Given the description of an element on the screen output the (x, y) to click on. 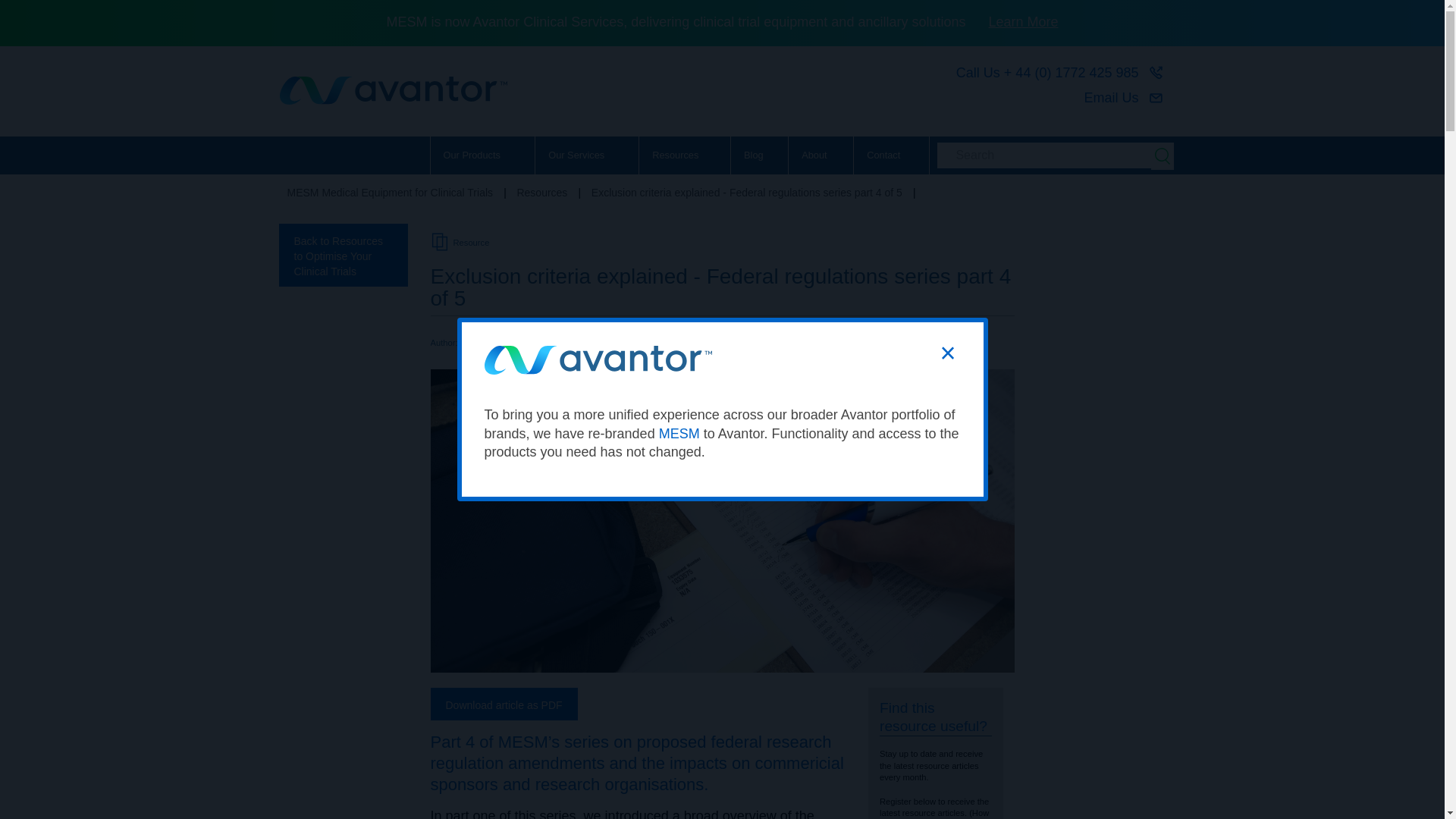
Our Products (482, 155)
Blog (758, 155)
About (821, 155)
Learn More (1023, 21)
MESM Medical Equipment for Clinical Trials (389, 192)
Resources (684, 155)
Email Us (943, 97)
Learn More (1023, 21)
Our Services (587, 155)
Contact (890, 155)
